Given the description of an element on the screen output the (x, y) to click on. 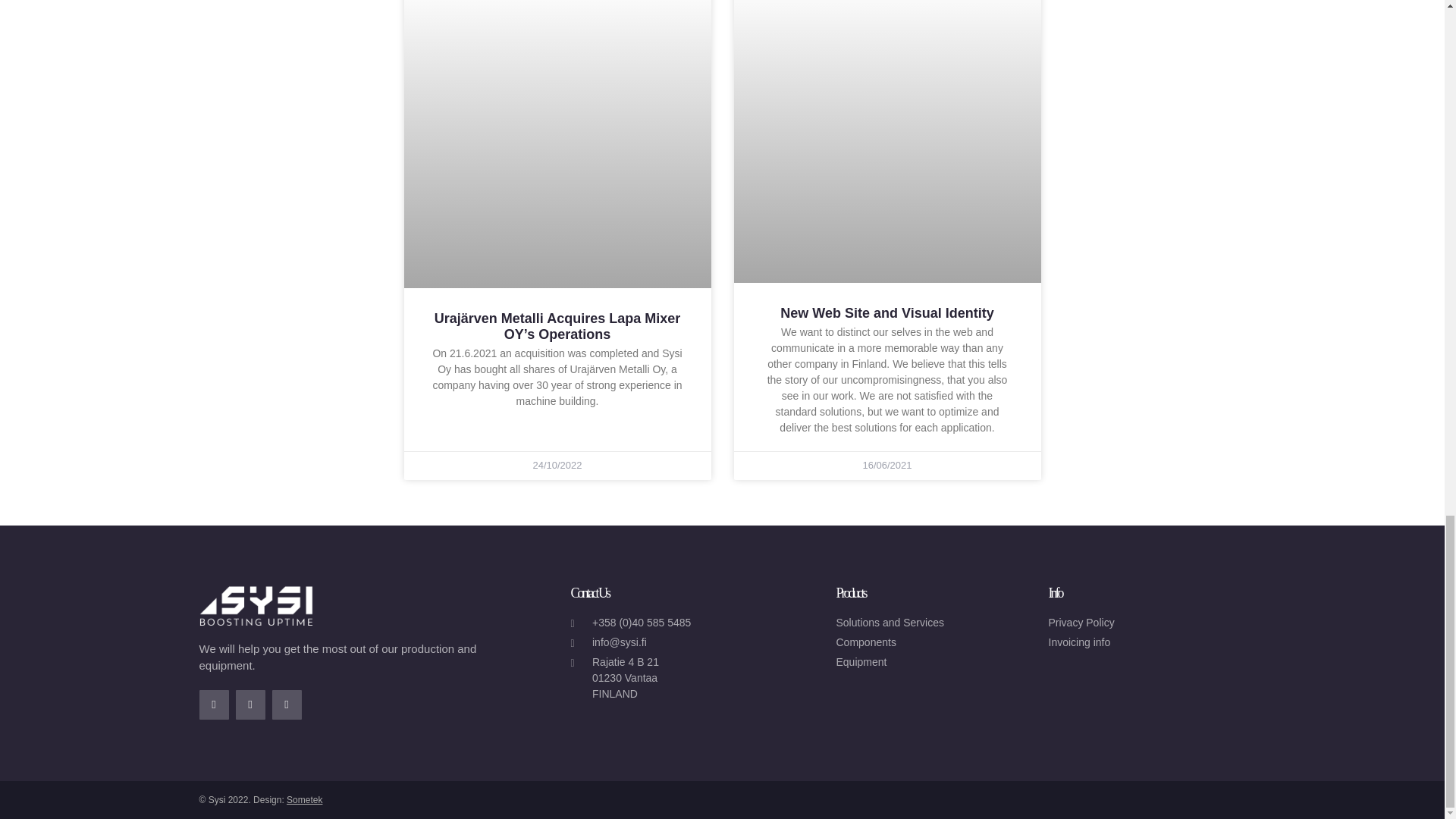
Solutions and Services (933, 622)
Equipment (933, 662)
New Web Site and Visual Identity (886, 313)
Components (933, 642)
Invoicing info (1146, 642)
Privacy Policy (1146, 622)
